Given the description of an element on the screen output the (x, y) to click on. 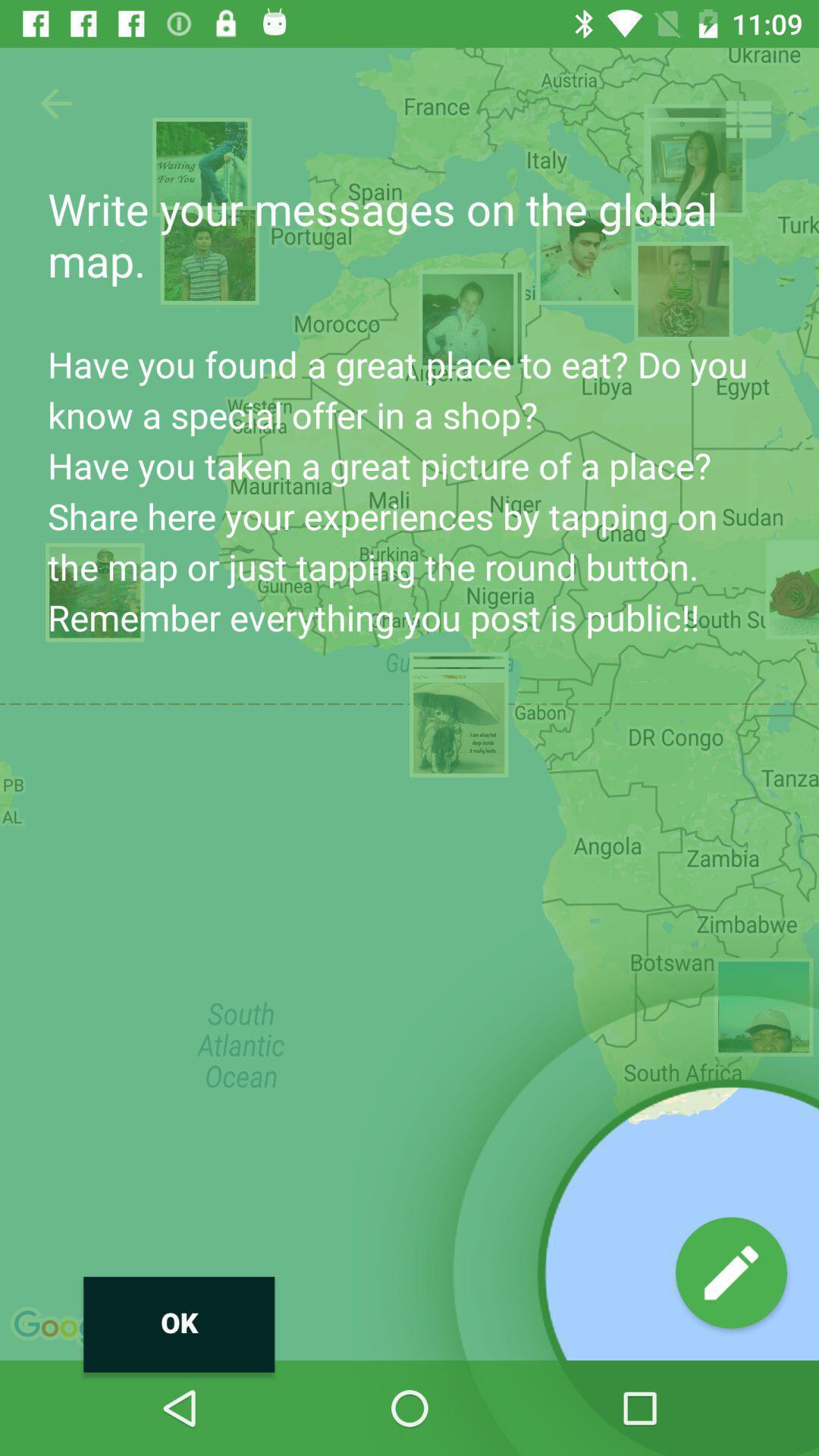
turn on the icon at the bottom right corner (731, 1272)
